Given the description of an element on the screen output the (x, y) to click on. 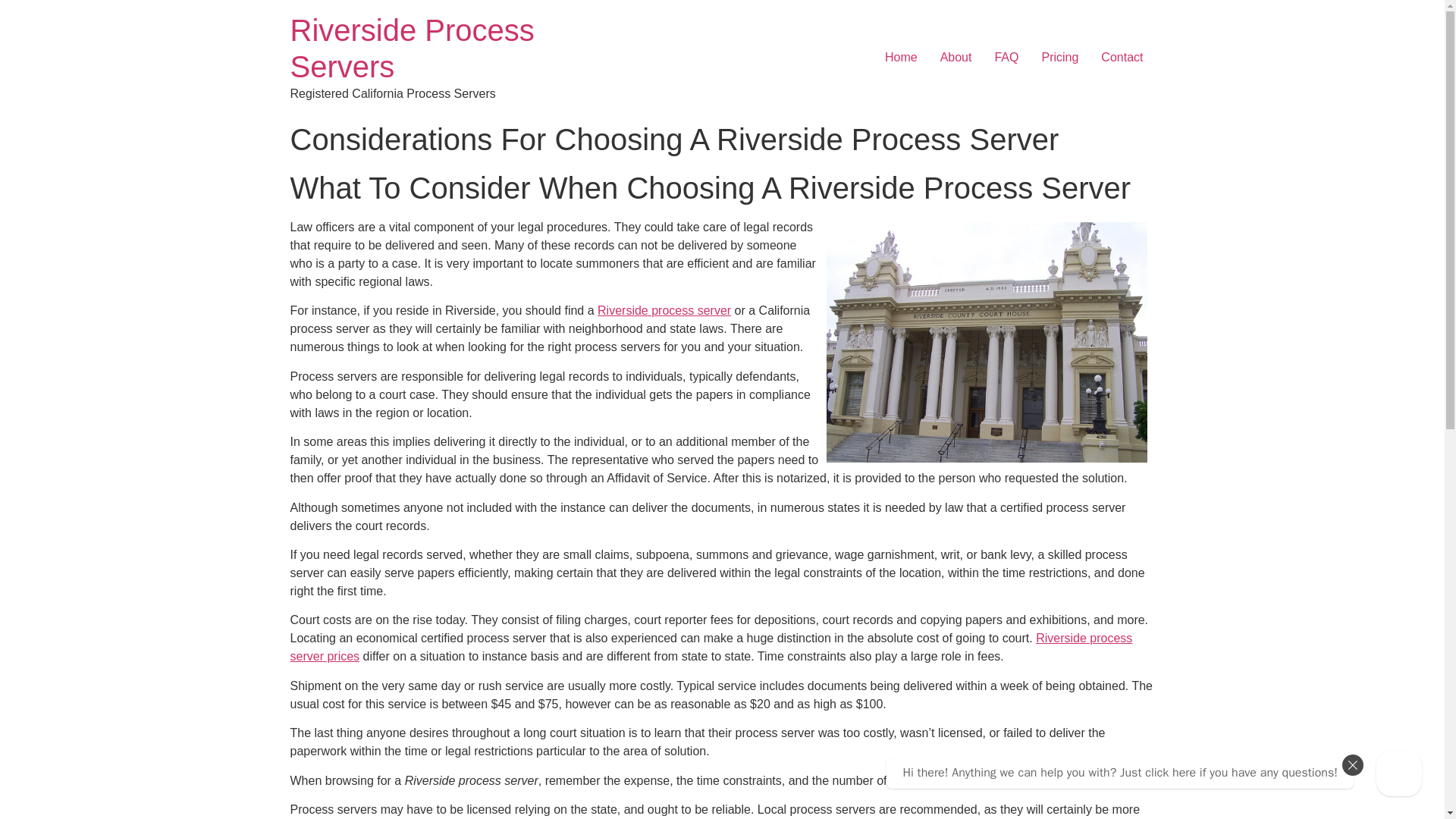
FAQ (1005, 57)
Riverside process server (663, 309)
Riverside Process Servers (411, 48)
Home (900, 57)
Home (411, 48)
About (956, 57)
Riverside process server prices (710, 646)
Pricing (1059, 57)
Contact (1121, 57)
